Given the description of an element on the screen output the (x, y) to click on. 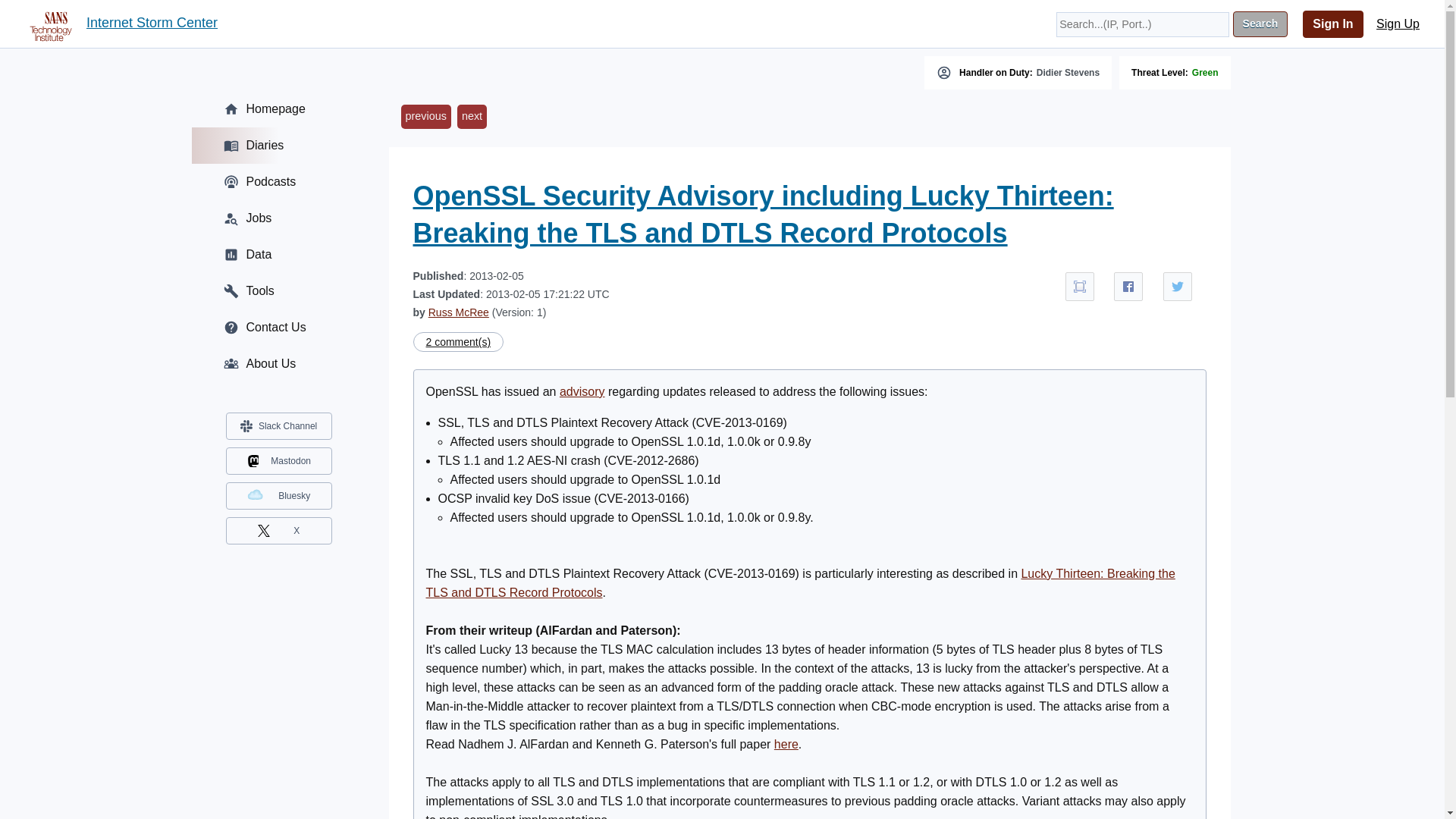
Full Screen (1079, 286)
Share on Twitter (1177, 286)
Homepage (277, 108)
Lucky Thirteen: Breaking the TLS and DTLS Record Protocols (800, 582)
here (785, 744)
Share on Facebook (1127, 286)
Sign In (1332, 24)
previous (424, 116)
Diaries (277, 145)
Search (1260, 23)
Internet Storm Center (150, 23)
Didier Stevens (1067, 72)
Jobs (277, 217)
next (471, 116)
